Given the description of an element on the screen output the (x, y) to click on. 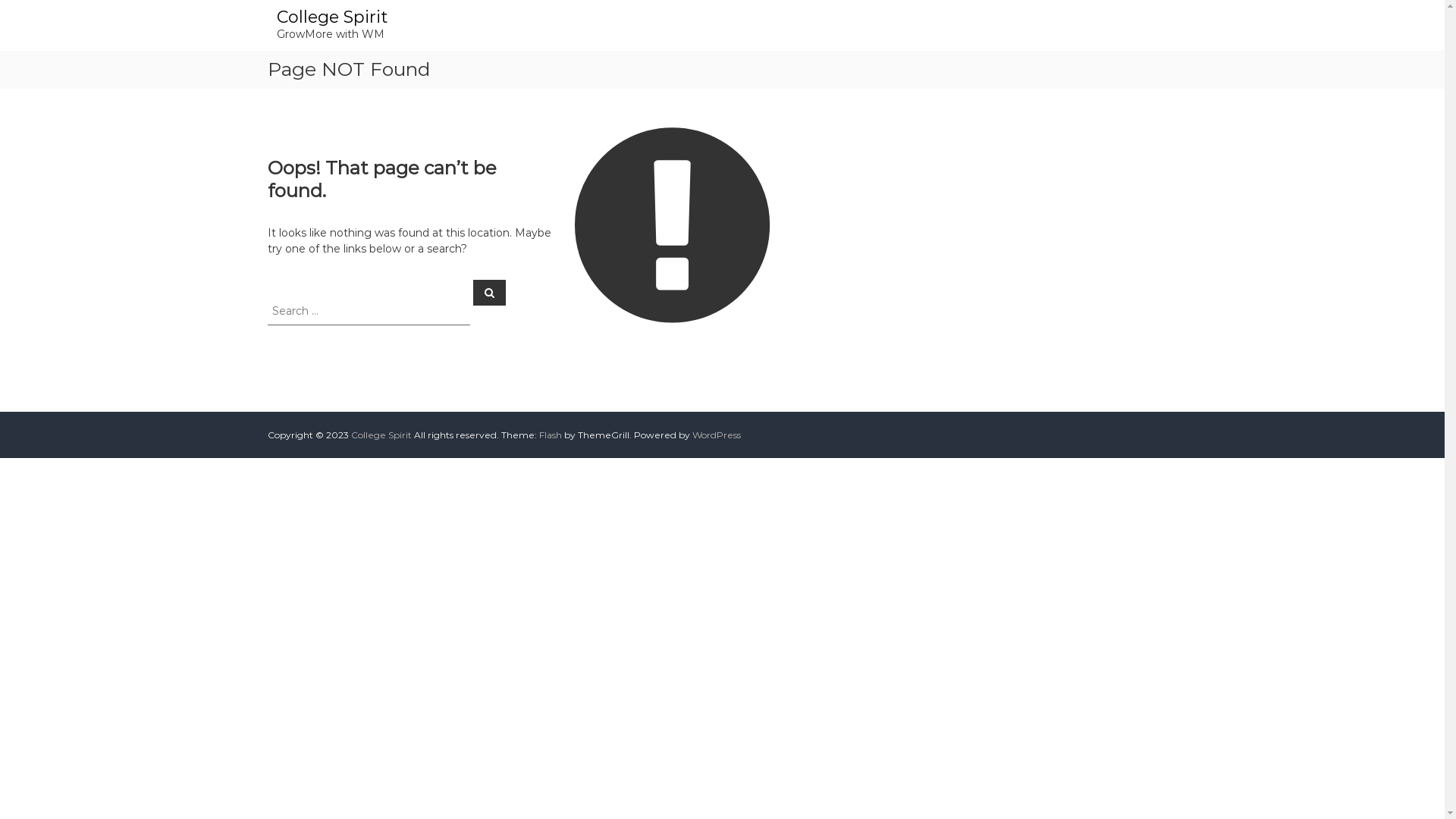
Flash Element type: text (549, 434)
WordPress Element type: text (715, 434)
Search Element type: text (489, 291)
College Spirit Element type: text (331, 16)
College Spirit Element type: text (380, 434)
